Given the description of an element on the screen output the (x, y) to click on. 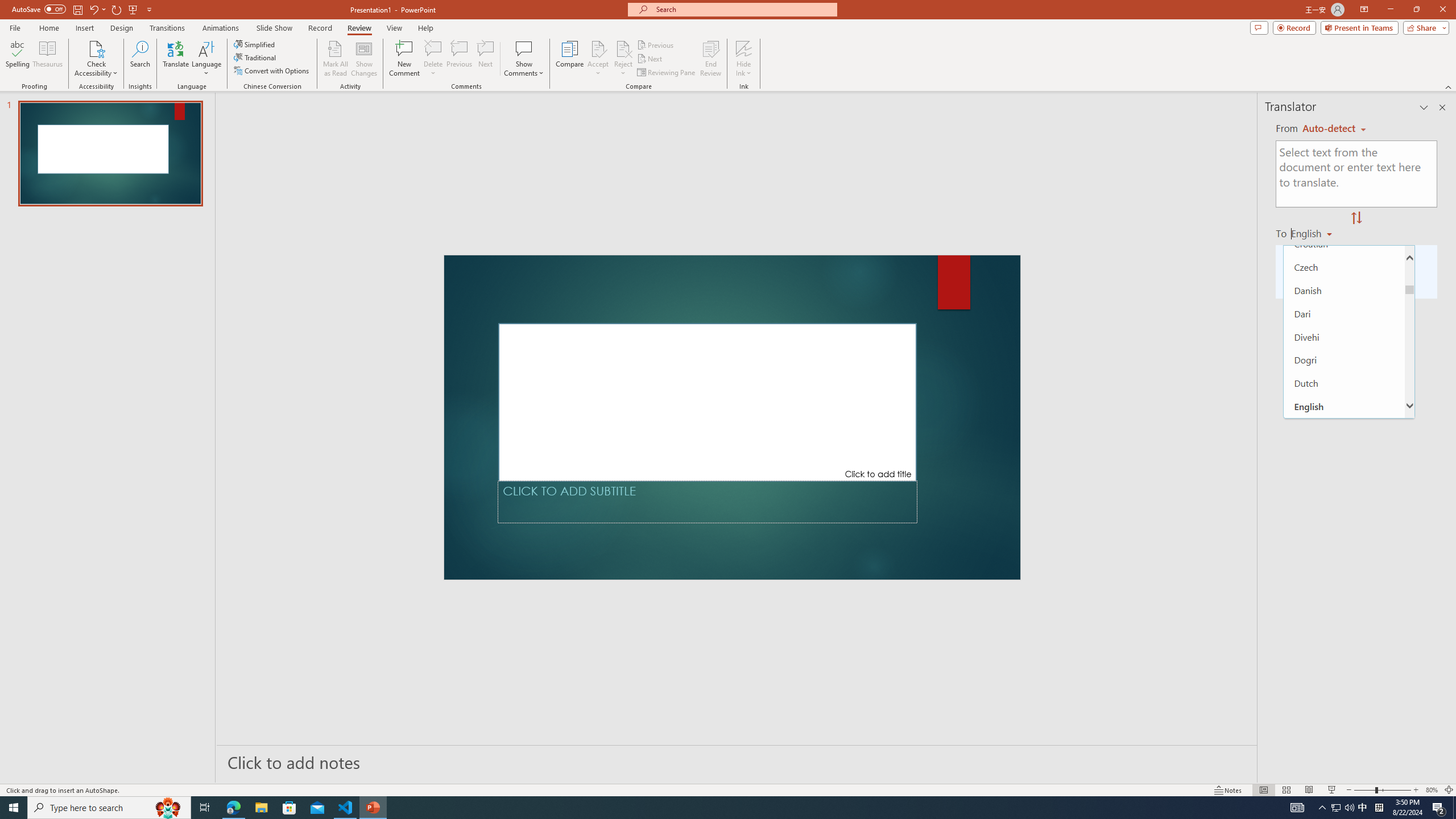
Accept (598, 58)
Convert with Options... (272, 69)
Search (140, 58)
Reject Change (622, 48)
Compare (569, 58)
Check Accessibility (95, 58)
Simplified (254, 44)
